Given the description of an element on the screen output the (x, y) to click on. 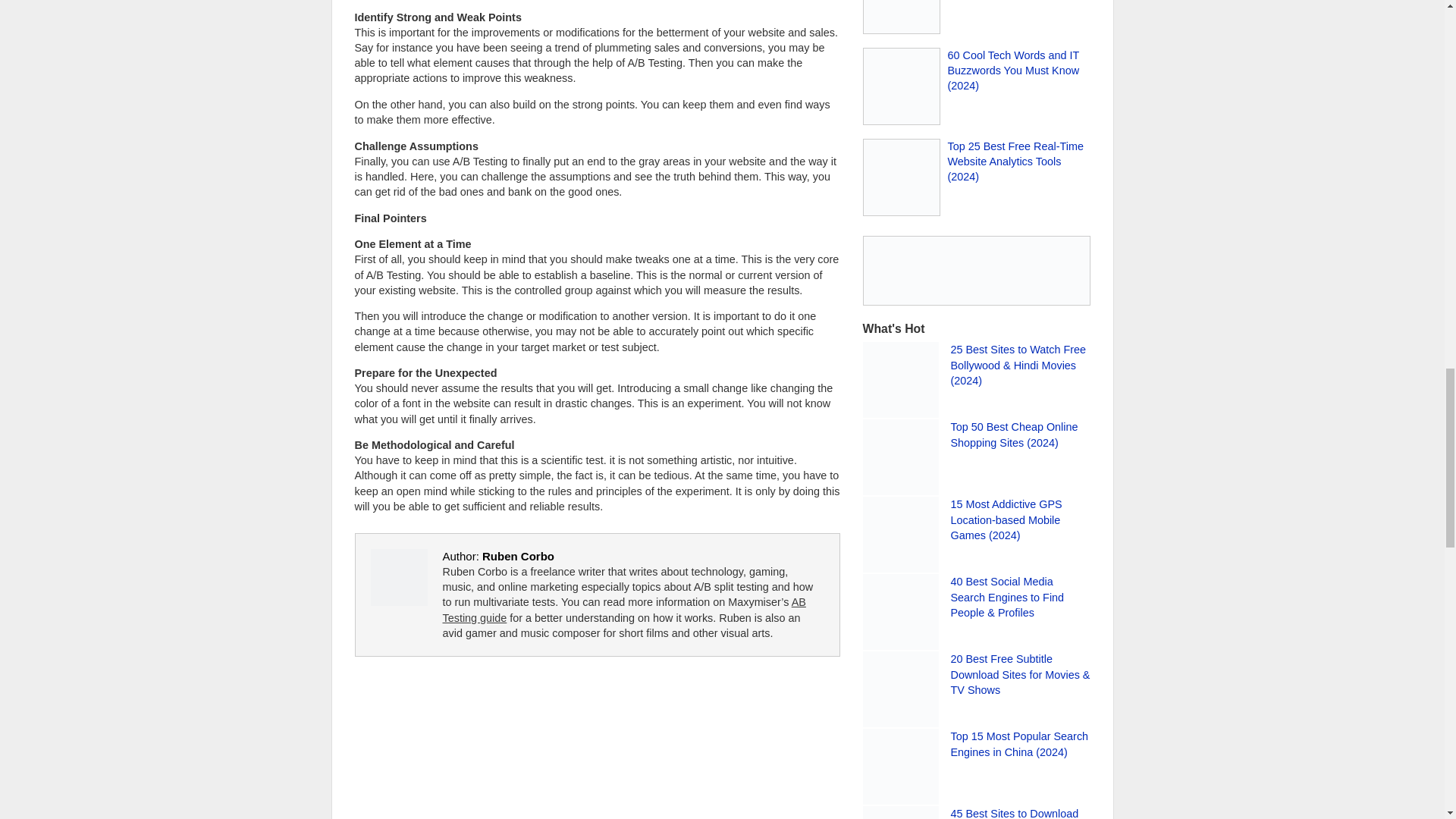
AB Testing guide (624, 609)
